Given the description of an element on the screen output the (x, y) to click on. 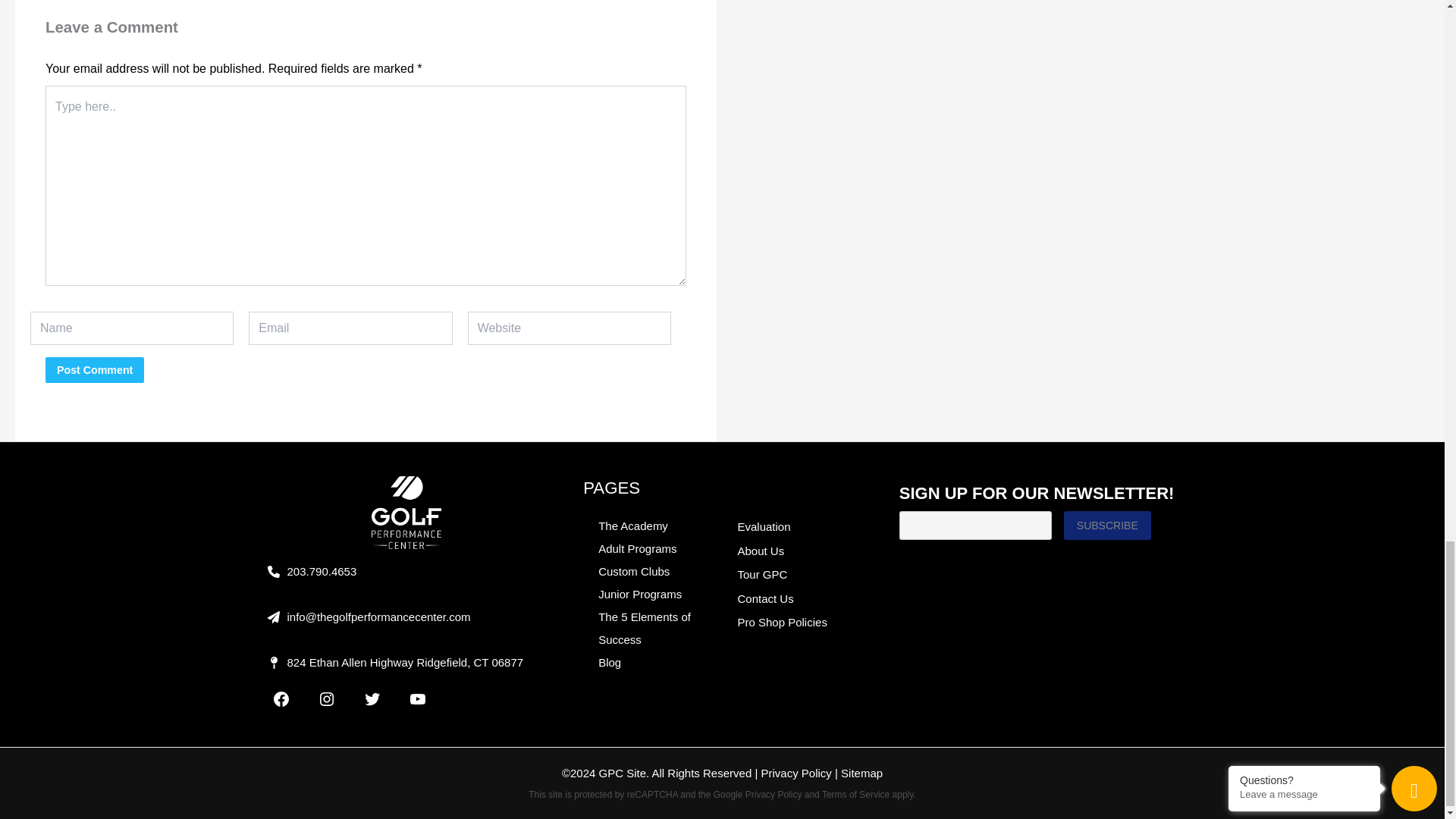
SUBSCRIBE (1107, 525)
Post Comment (94, 370)
